Given the description of an element on the screen output the (x, y) to click on. 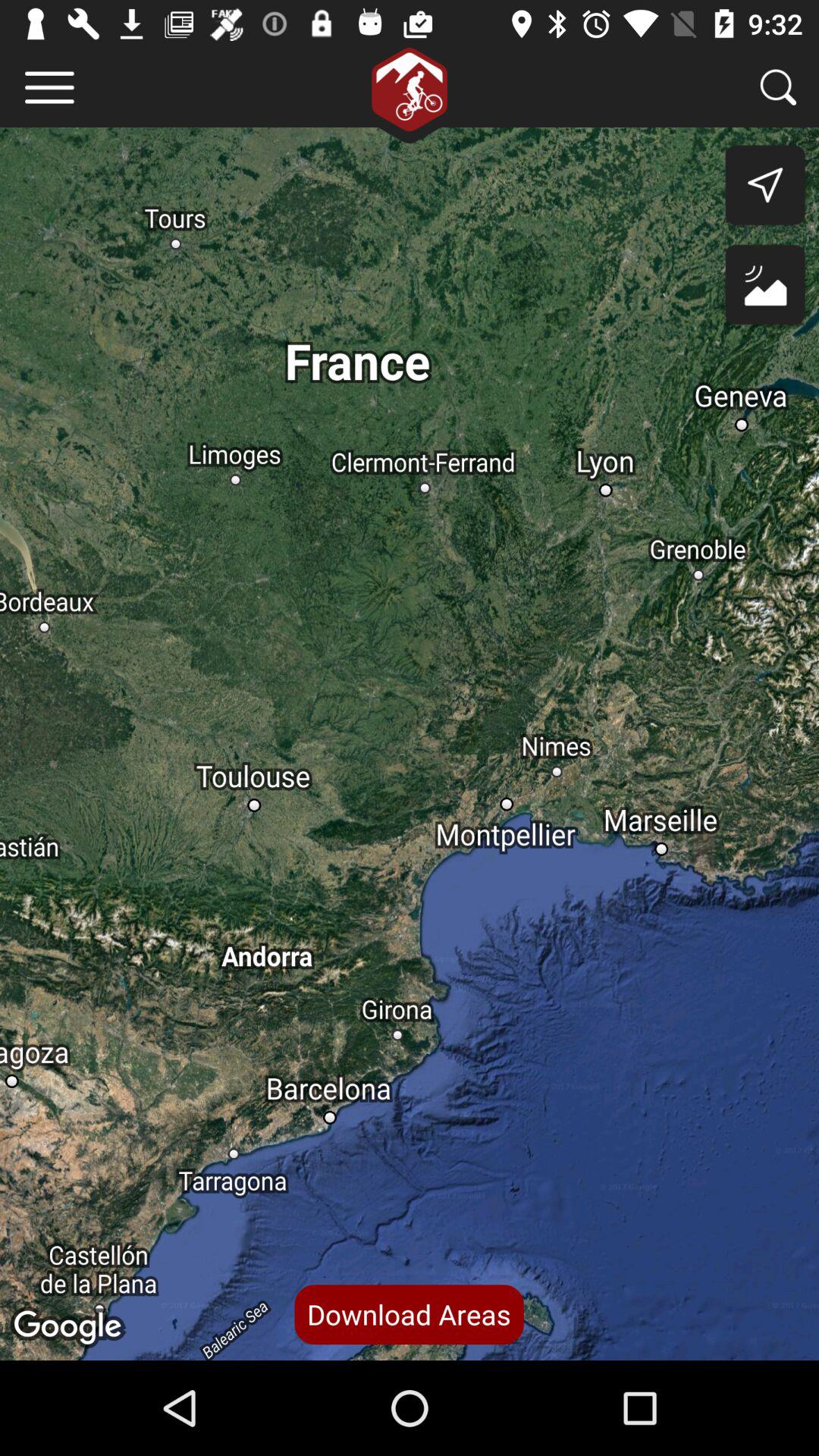
open menu options (49, 87)
